Given the description of an element on the screen output the (x, y) to click on. 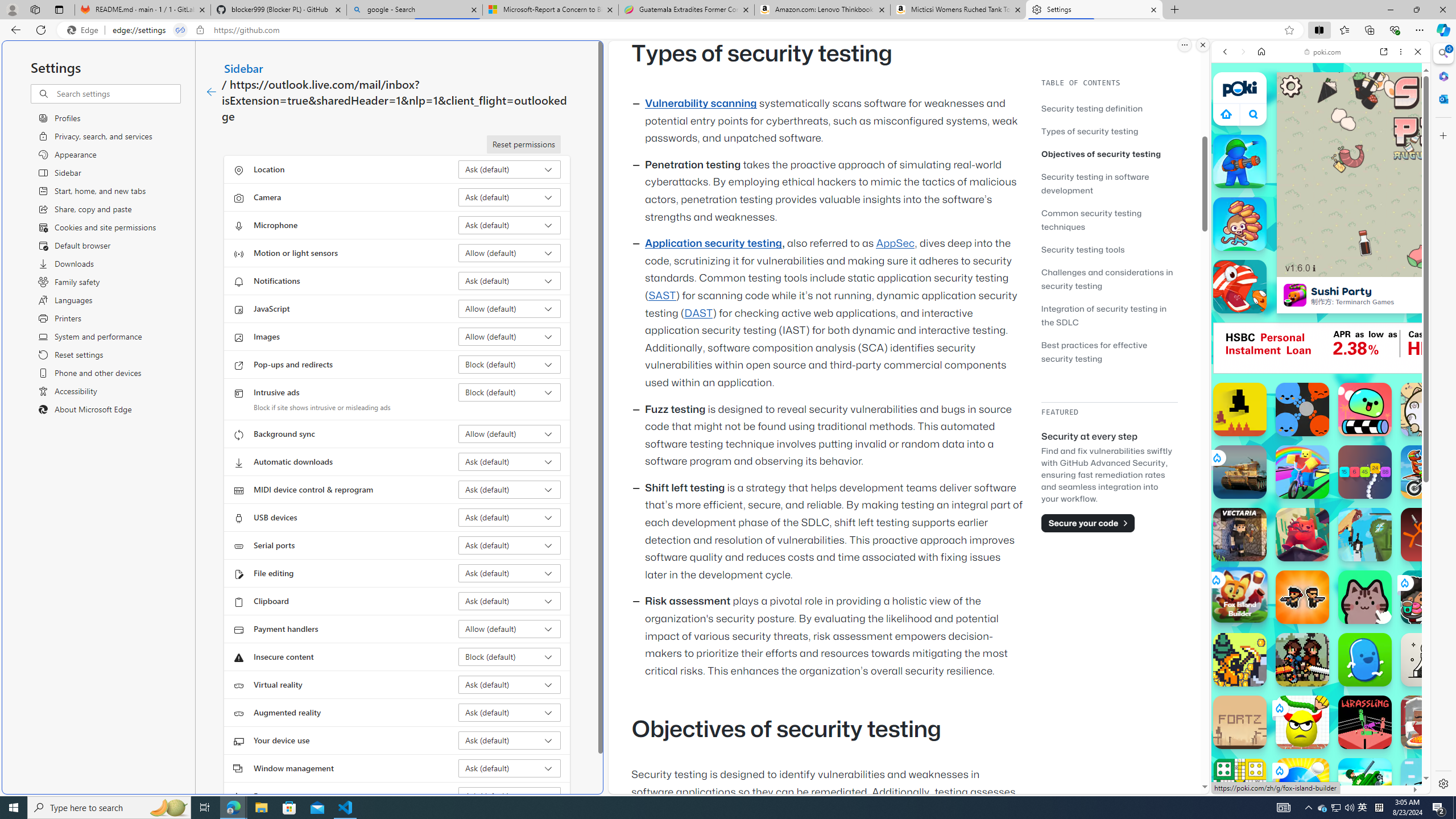
Car Games (1320, 267)
DAST (698, 312)
Types of security testing (1089, 130)
Serial ports Ask (default) (509, 545)
Vectaria.io (1239, 534)
Two Player Games (1320, 323)
Show More Io Games (1390, 351)
Wrassling Wrassling (1364, 722)
Moto X3M (1427, 471)
Io Games (1320, 350)
